Given the description of an element on the screen output the (x, y) to click on. 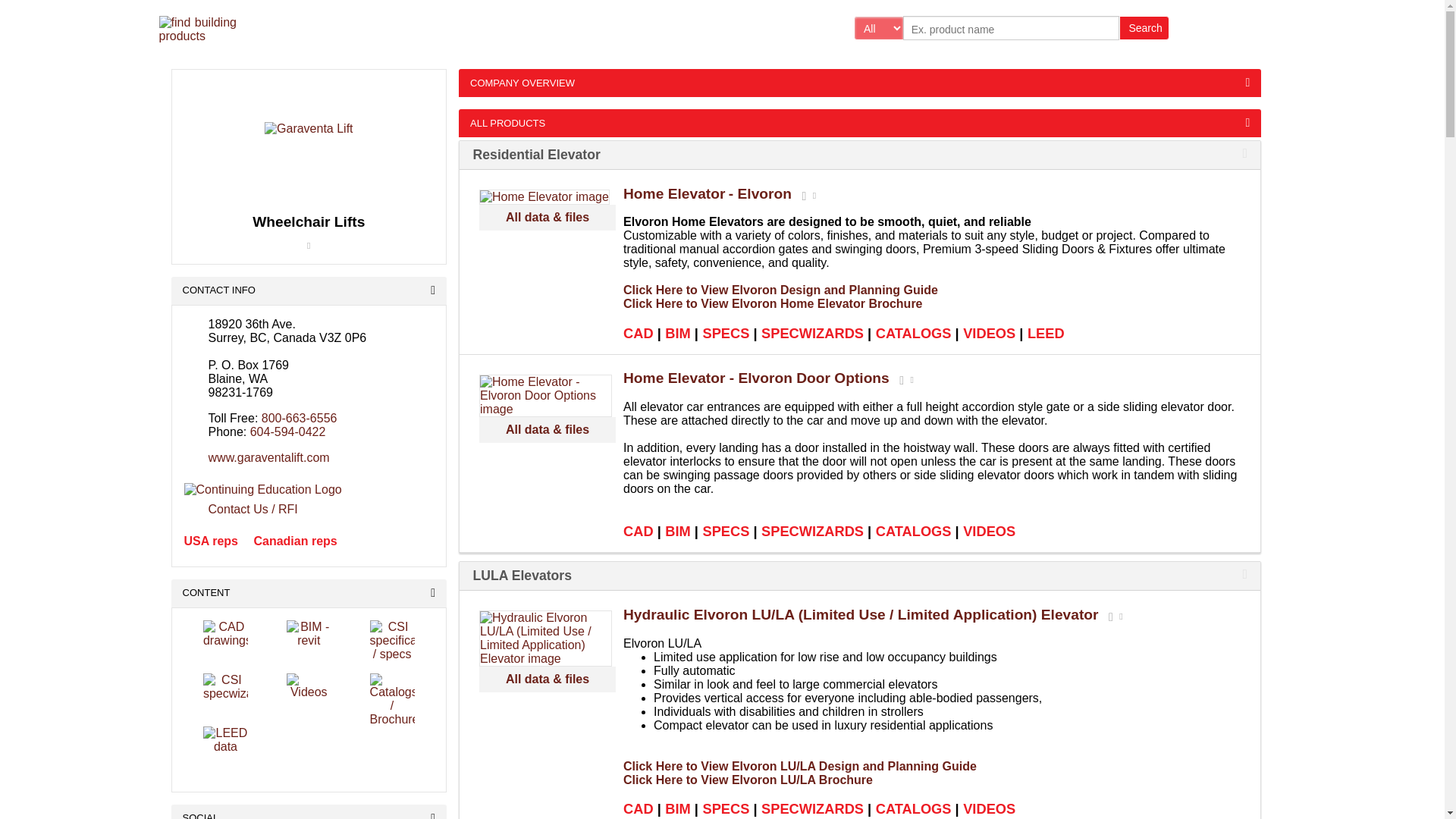
Search terms query (1010, 27)
Search submit (1144, 27)
Search (1144, 27)
A169480 (526, 575)
A125589 (540, 154)
Content type filter (877, 27)
